Given the description of an element on the screen output the (x, y) to click on. 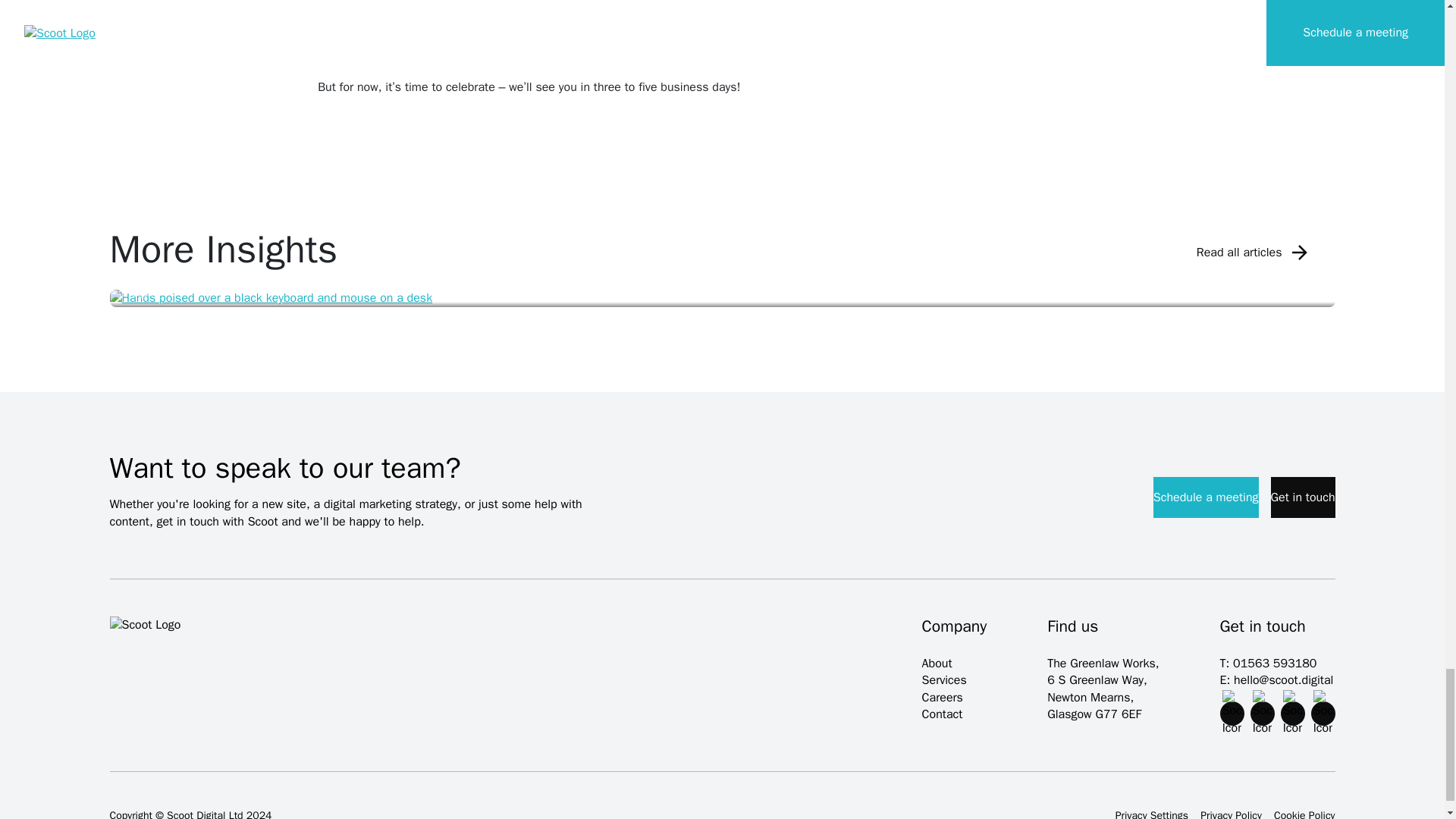
Privacy Settings (1151, 814)
Services (943, 679)
Read all articles (1253, 252)
Cookie Policy (1304, 814)
Contact (941, 713)
Careers (941, 697)
About (936, 663)
Insight (722, 298)
Get in touch (1303, 496)
Schedule a meeting (1206, 496)
T: 01563 593180 (1277, 663)
Privacy Policy (1230, 814)
